Given the description of an element on the screen output the (x, y) to click on. 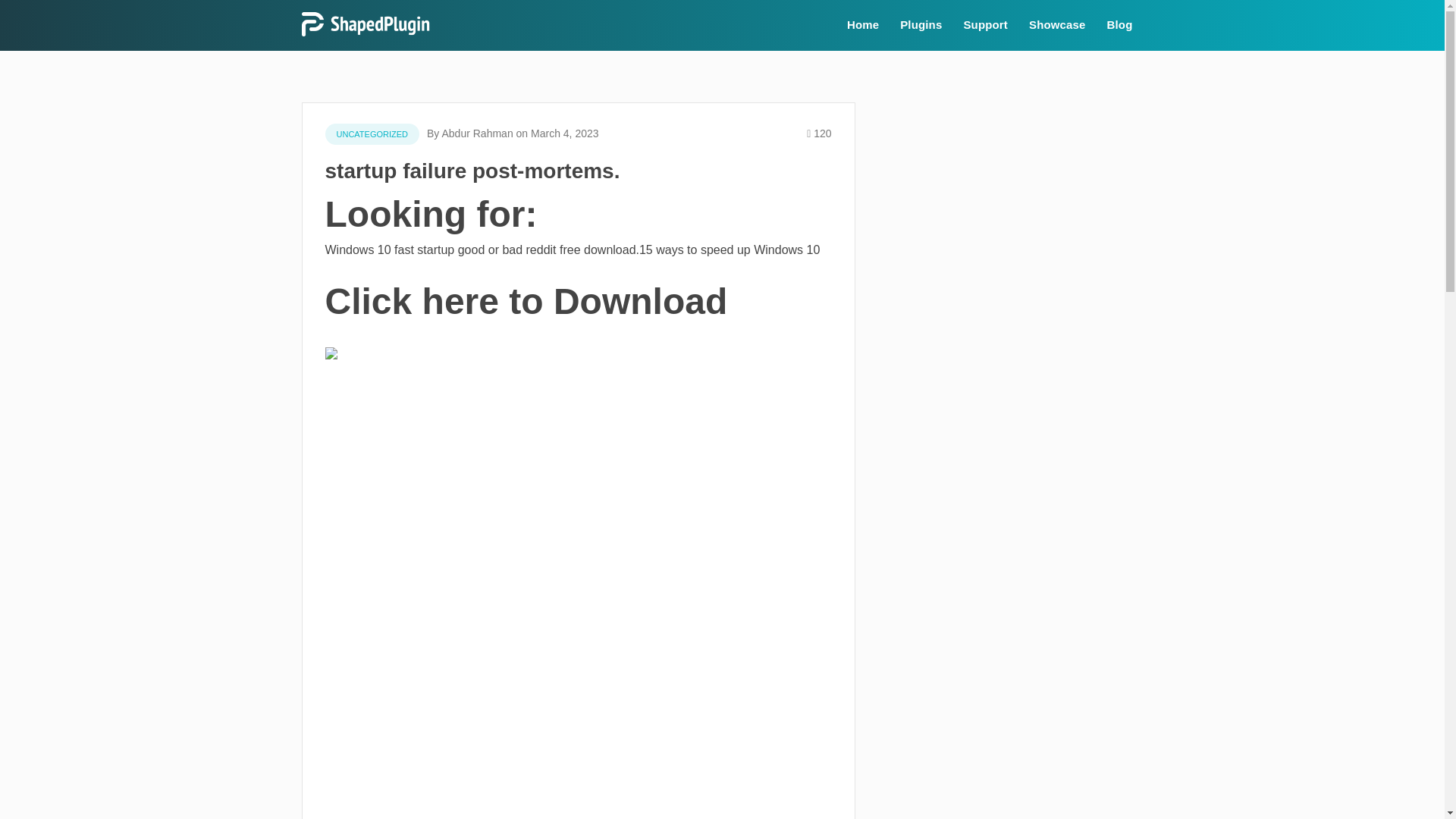
Abdur Rahman (476, 133)
Home (862, 25)
UNCATEGORIZED (371, 133)
Plugins (920, 25)
Support (984, 25)
Blog (1119, 25)
Showcase (1056, 25)
Blog (1119, 25)
Home (862, 25)
Showcase (1056, 25)
